Given the description of an element on the screen output the (x, y) to click on. 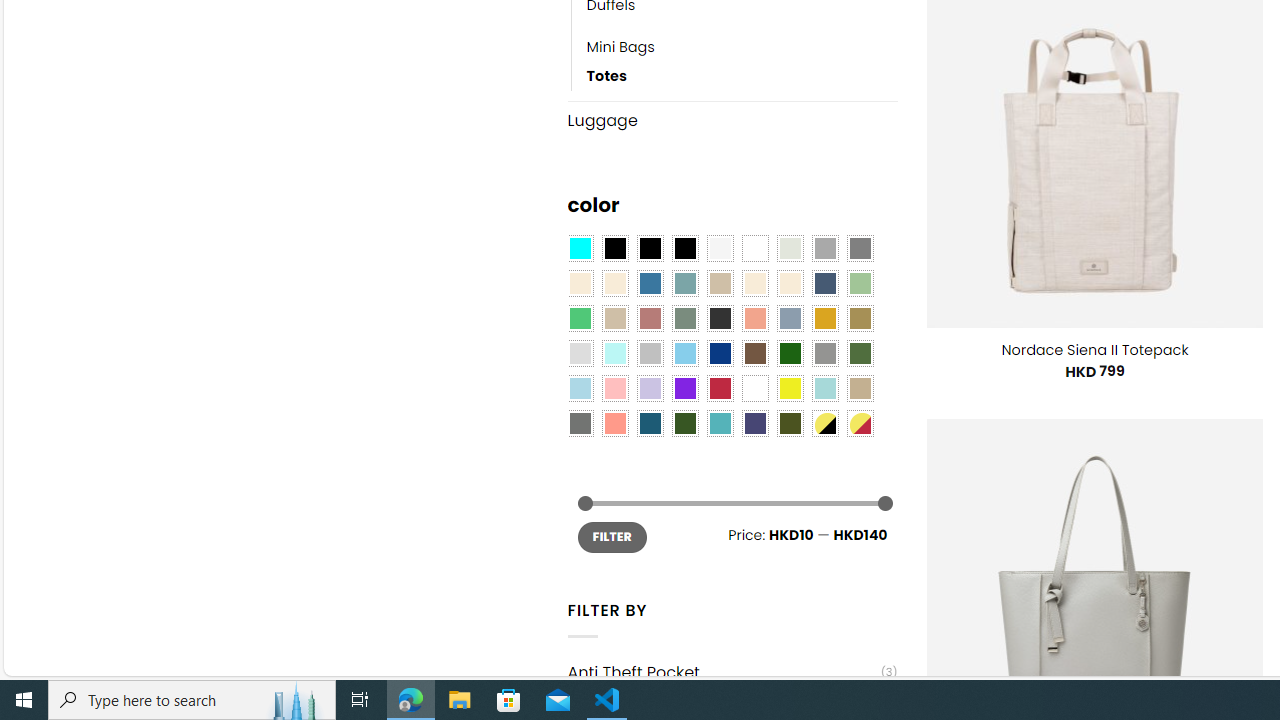
All Black (614, 249)
Kelp (859, 318)
Brown (755, 354)
Anti Theft Pocket (723, 672)
Light Gray (579, 354)
Blue (650, 283)
Black (650, 249)
Emerald Green (579, 318)
Blue Sage (684, 283)
Khaki (859, 388)
Light Green (859, 283)
Totes (742, 76)
Clear (755, 249)
Pink (614, 388)
Gold (824, 318)
